Given the description of an element on the screen output the (x, y) to click on. 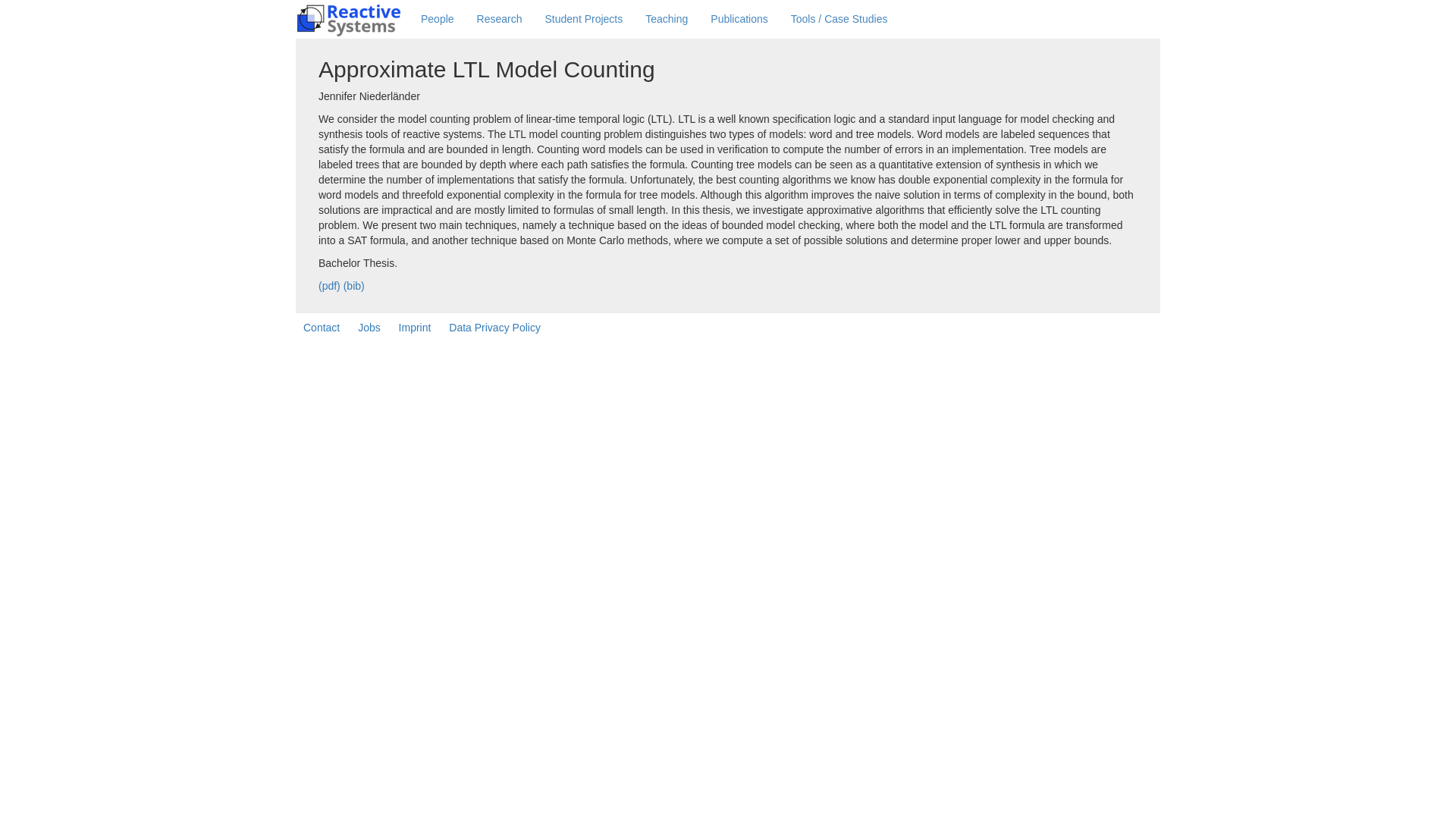
Publications (738, 18)
Teaching (665, 18)
Research (499, 18)
Data Privacy Policy (494, 327)
People (437, 18)
Student Projects (584, 18)
Contact (321, 327)
Jobs (369, 327)
Imprint (415, 327)
